Given the description of an element on the screen output the (x, y) to click on. 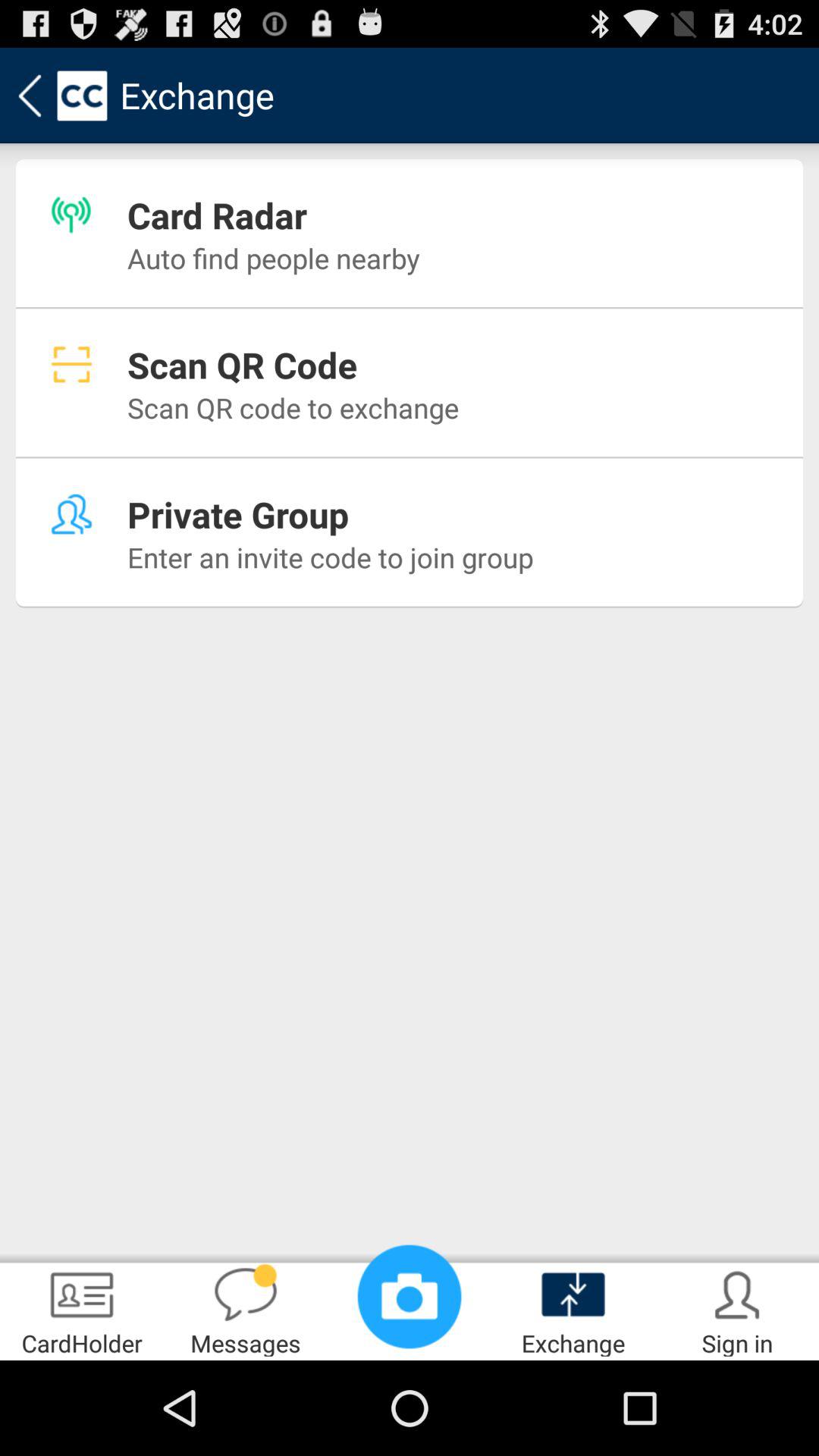
open item next to exchange (409, 1296)
